Given the description of an element on the screen output the (x, y) to click on. 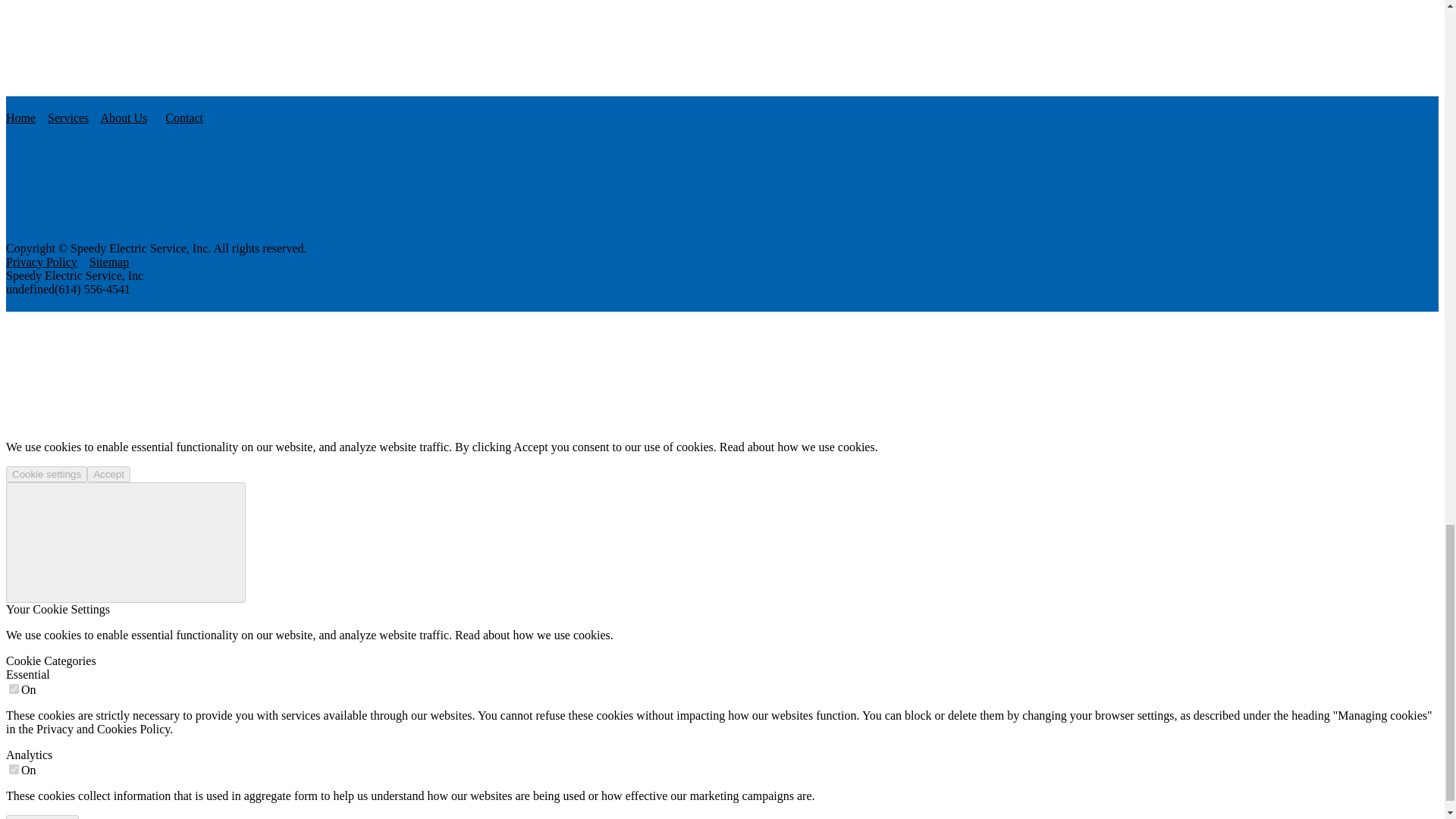
Read about how we use cookies. (798, 446)
About Us (123, 117)
Services (68, 117)
Privacy and Cookies Policy (103, 728)
Privacy Policy (41, 261)
Accept (109, 474)
on (13, 688)
Home (19, 117)
Sitemap (108, 261)
on (13, 768)
Read about how we use cookies (532, 634)
Contact (184, 117)
Cookie settings (46, 474)
